Given the description of an element on the screen output the (x, y) to click on. 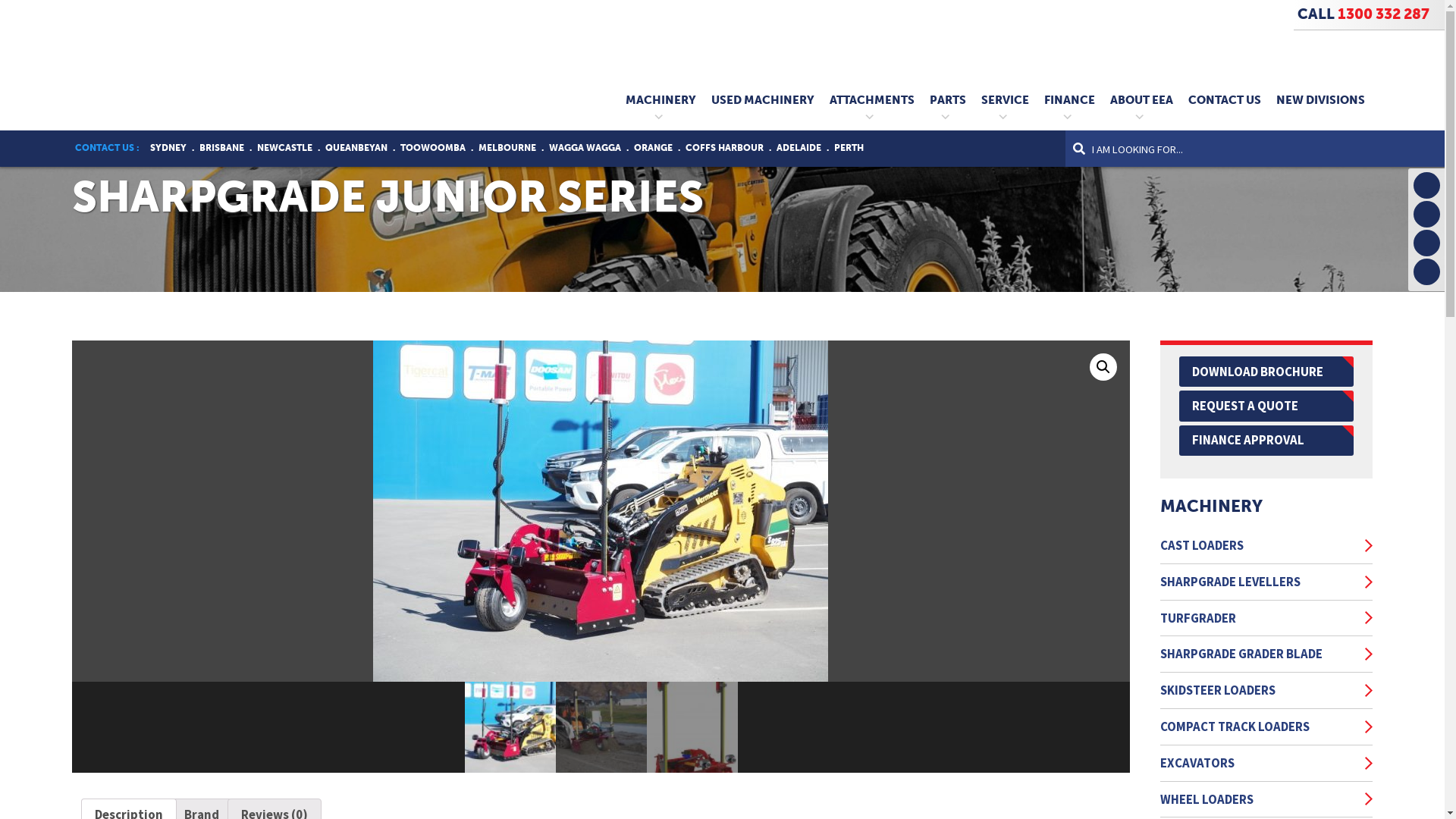
FINANCE Element type: text (1069, 99)
SERVICE Element type: text (1004, 99)
1300 332 287 Element type: text (1383, 13)
WAGGA WAGGA Element type: text (585, 147)
COMPACT TRACK LOADERS Element type: text (1258, 726)
ADELAIDE Element type: text (798, 147)
COFFS HARBOUR Element type: text (724, 147)
SKIDSTEER LOADERS Element type: text (1258, 690)
ABOUT EEA Element type: text (1141, 99)
SHARPGRADE LEVELLERS Element type: text (1258, 581)
SHARPGRADE GRADER BLADE Element type: text (1258, 653)
USED MACHINERY Element type: text (762, 99)
NEW DIVISIONS Element type: text (1320, 99)
TOOWOOMBA Element type: text (432, 147)
QUEANBEYAN Element type: text (356, 147)
P8280380 Element type: hover (600, 510)
SYDNEY Element type: text (168, 147)
ORANGE Element type: text (652, 147)
CONTACT US Element type: text (1224, 99)
REQUEST A QUOTE Element type: text (1266, 405)
PERTH Element type: text (848, 147)
ATTACHMENTS Element type: text (872, 99)
BRISBANE Element type: text (221, 147)
CAST LOADERS Element type: text (1258, 545)
EXCAVATORS Element type: text (1258, 763)
NEWCASTLE Element type: text (284, 147)
MACHINERY Element type: text (660, 99)
PARTS Element type: text (947, 99)
TURFGRADER Element type: text (1258, 618)
DOWNLOAD BROCHURE Element type: text (1266, 371)
FINANCE APPROVAL Element type: text (1266, 440)
MELBOURNE Element type: text (507, 147)
WHEEL LOADERS Element type: text (1258, 799)
